Given the description of an element on the screen output the (x, y) to click on. 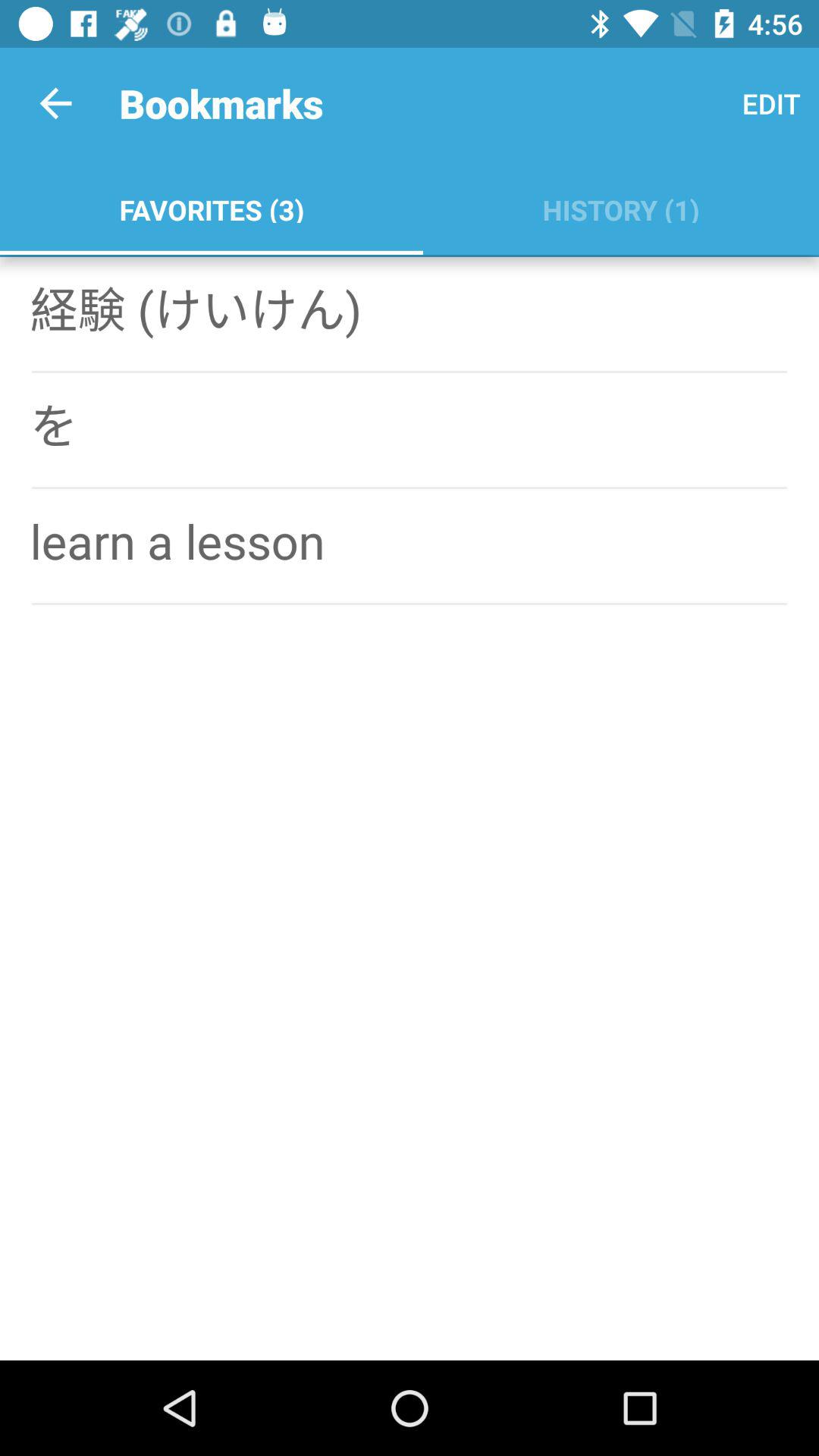
turn on the item to the left of the history (1) (211, 206)
